Given the description of an element on the screen output the (x, y) to click on. 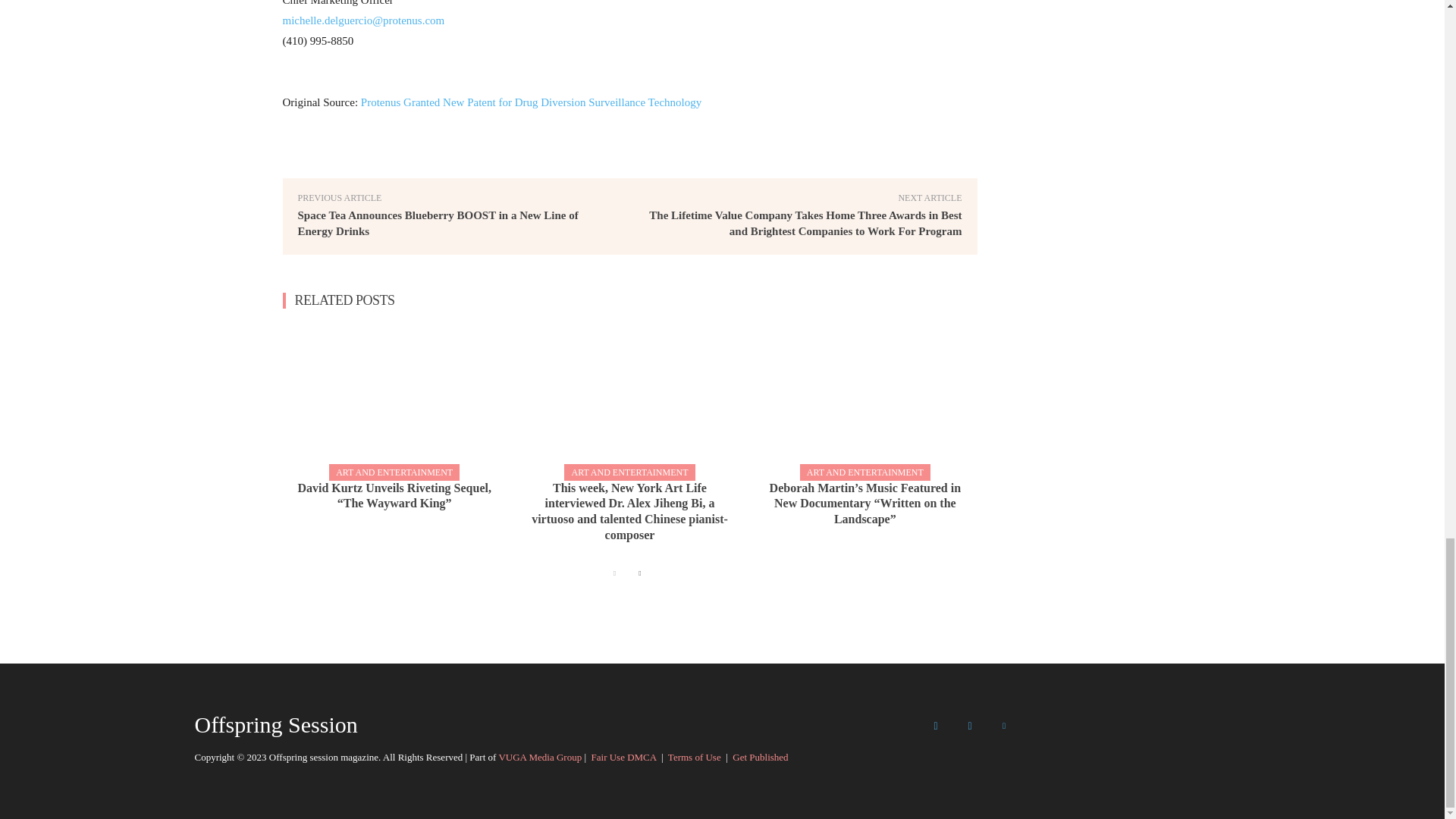
ART AND ENTERTAINMENT (394, 472)
